Given the description of an element on the screen output the (x, y) to click on. 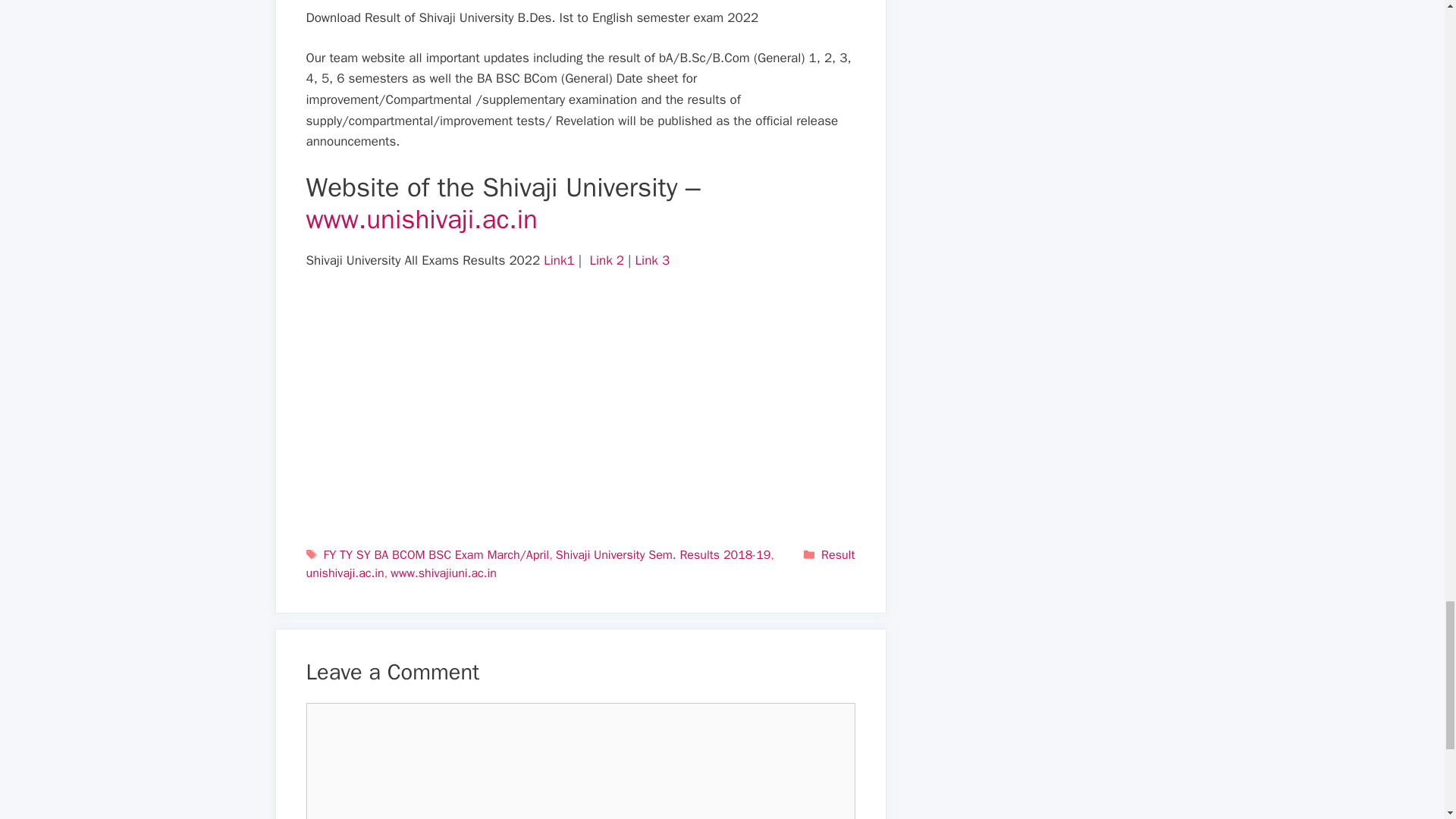
Shivaji University Sem. Results 2018-19 (663, 554)
Link 2 (606, 260)
Link 3 (651, 260)
Result (837, 554)
www.shivajiuni.ac.in (443, 572)
unishivaji.ac.in (344, 572)
www.unishivaji.ac.in (421, 218)
Link1 (558, 260)
